Given the description of an element on the screen output the (x, y) to click on. 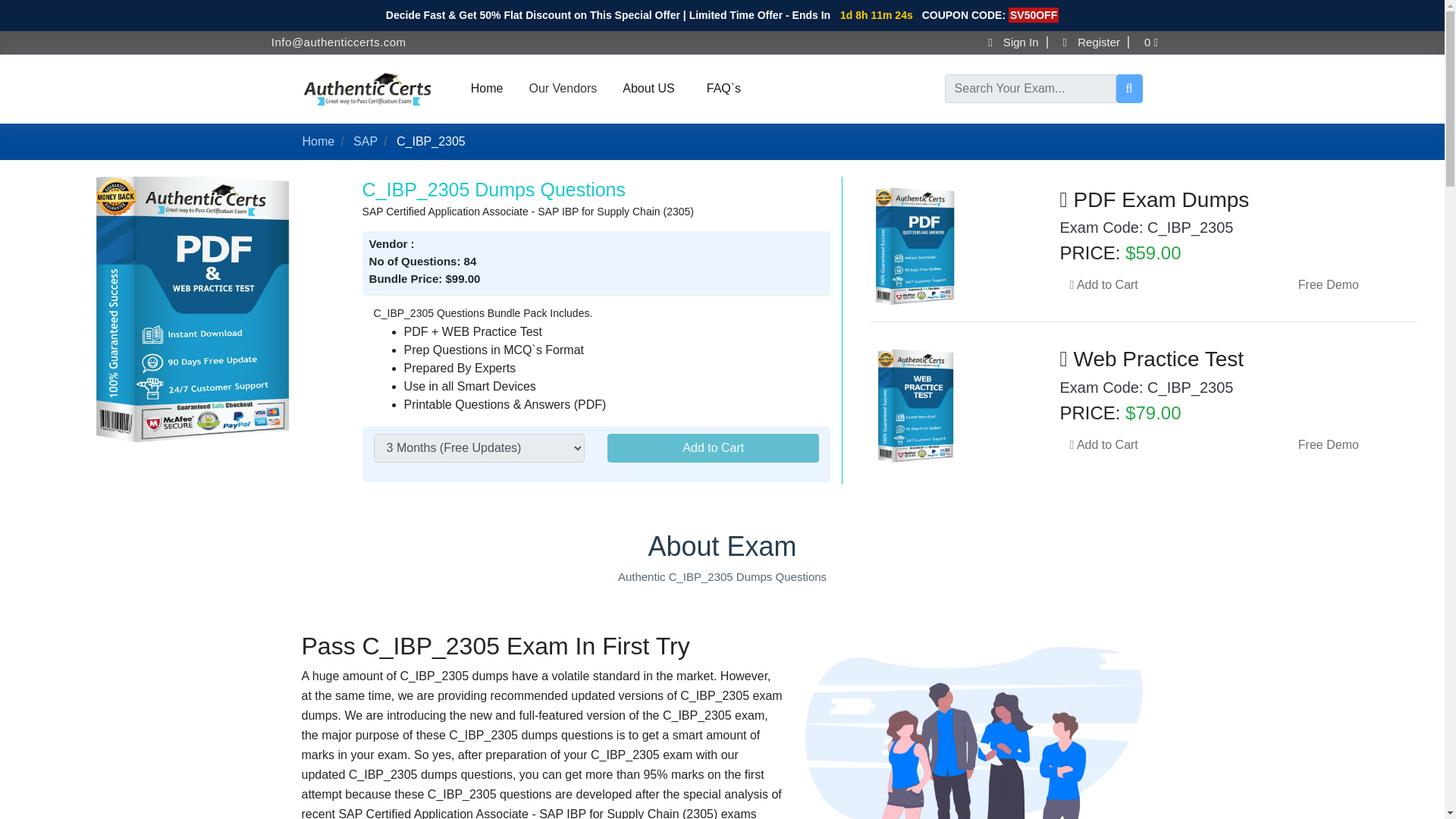
Sign In (1016, 42)
0 (1158, 42)
search your exam (1129, 88)
Home (486, 88)
Register (1095, 42)
Our Vendors (562, 88)
